Given the description of an element on the screen output the (x, y) to click on. 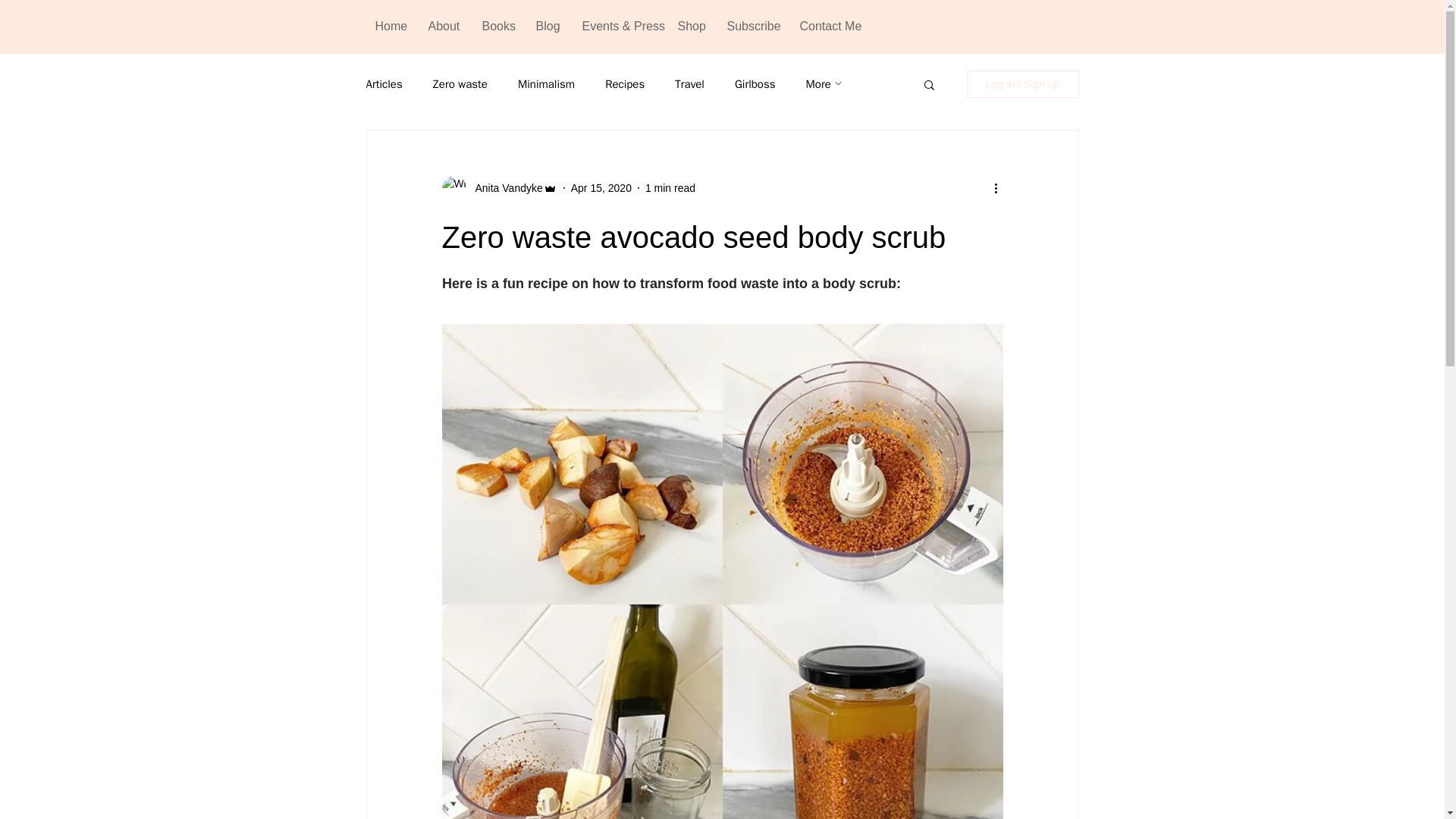
Subscribe (752, 26)
Blog (547, 26)
Minimalism (546, 83)
Shop (689, 26)
Zero waste (459, 83)
1 min read (670, 187)
Girlboss (755, 83)
Articles (383, 83)
Travel (689, 83)
Recipes (625, 83)
